Given the description of an element on the screen output the (x, y) to click on. 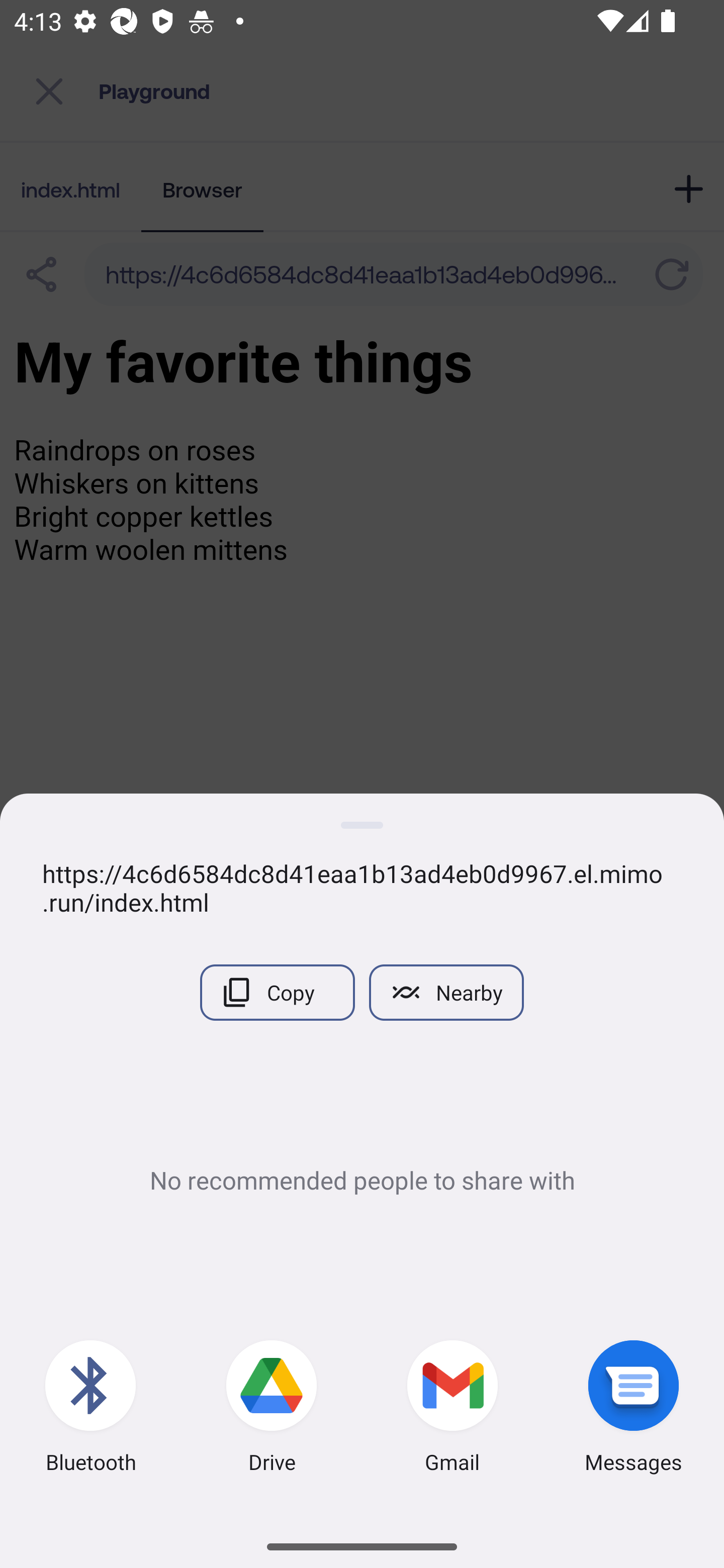
Copy (276, 992)
Nearby (446, 992)
Bluetooth (90, 1409)
Drive (271, 1409)
Gmail (452, 1409)
Messages (633, 1409)
